Given the description of an element on the screen output the (x, y) to click on. 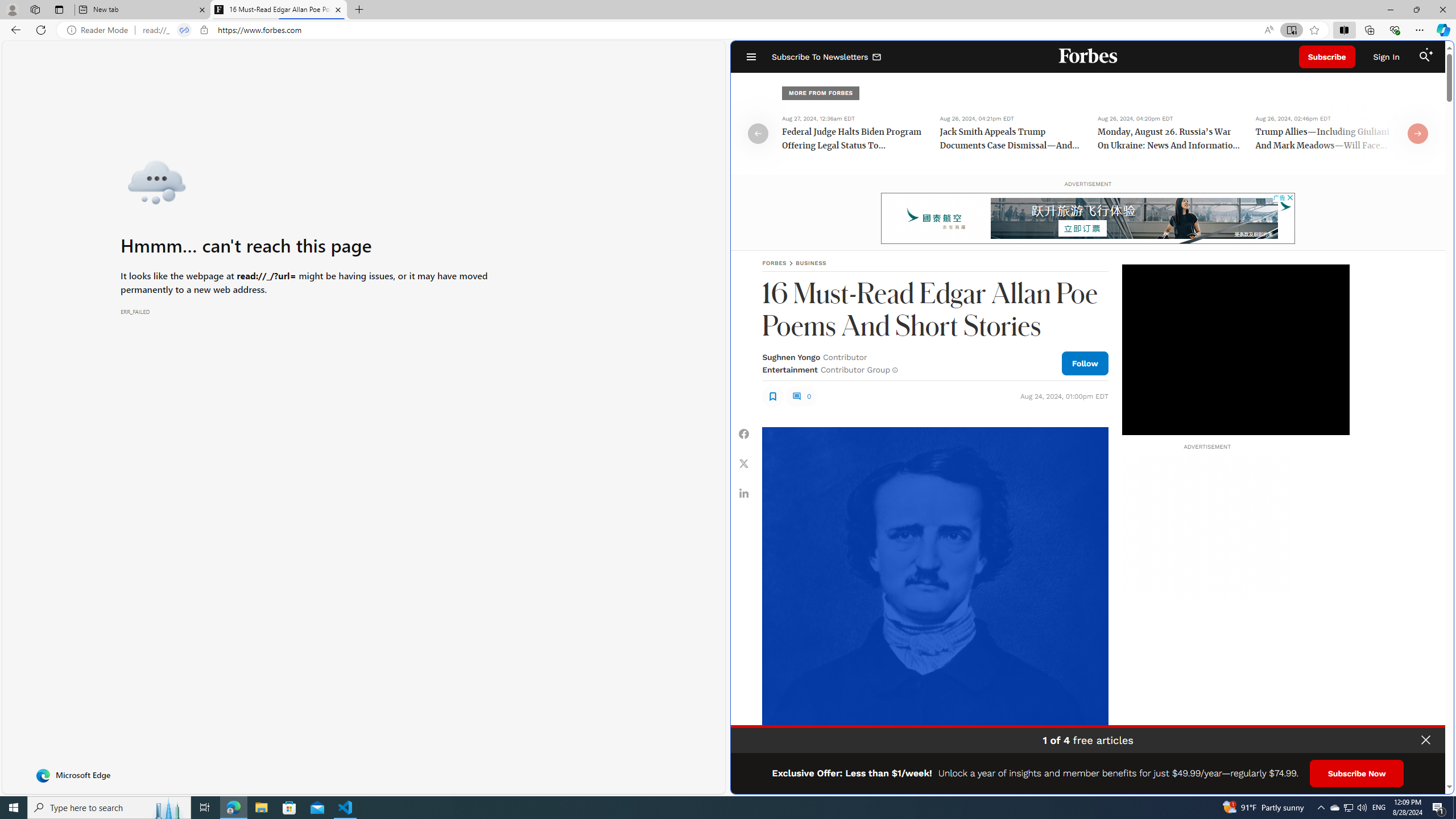
Open Navigation Menu (750, 56)
Class: fs-icon fs-icon--arrow-left (758, 133)
16 Must-Read Edgar Allan Poe Poems And Short Stories (277, 9)
Enter Immersive Reader (F9) (1291, 29)
Class: search_svg__fs-icon search_svg__fs-icon--search (1424, 56)
Class: fs-icon fs-icon--arrow-right (1417, 133)
Class: fs-icon fs-icon--comment (796, 396)
Class: fs-icon fs-icon--Facebook (744, 433)
